Given the description of an element on the screen output the (x, y) to click on. 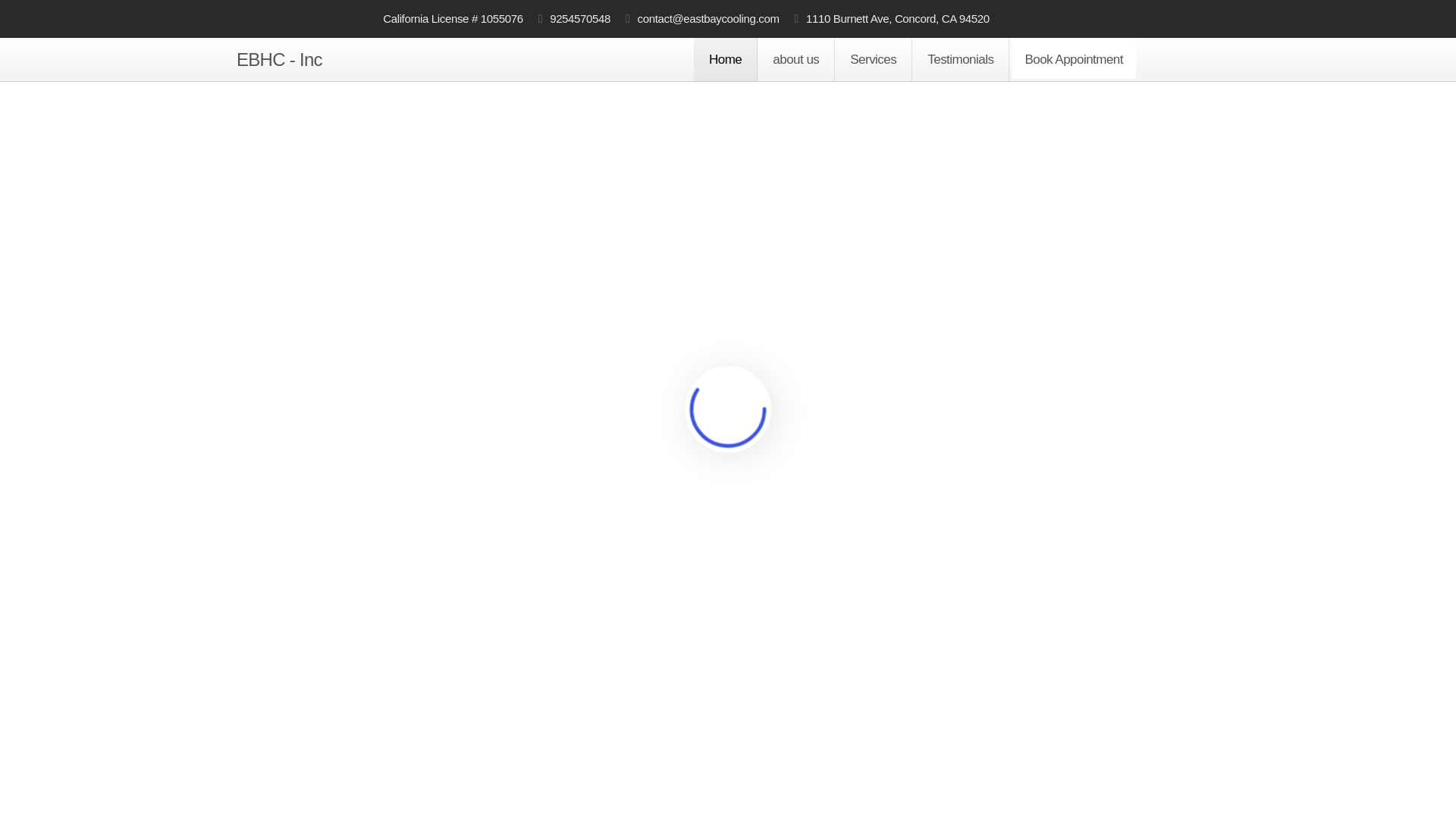
Testimonials (960, 59)
Book Appointment (1073, 59)
Home (725, 59)
OUR SERVICES (896, 781)
Services (873, 59)
EBHC - Inc (278, 58)
9254570548 (574, 18)
Maintenance and Repairs (340, 777)
1110 Burnett Ave, Concord, CA 94520 (892, 18)
about us (795, 59)
